Given the description of an element on the screen output the (x, y) to click on. 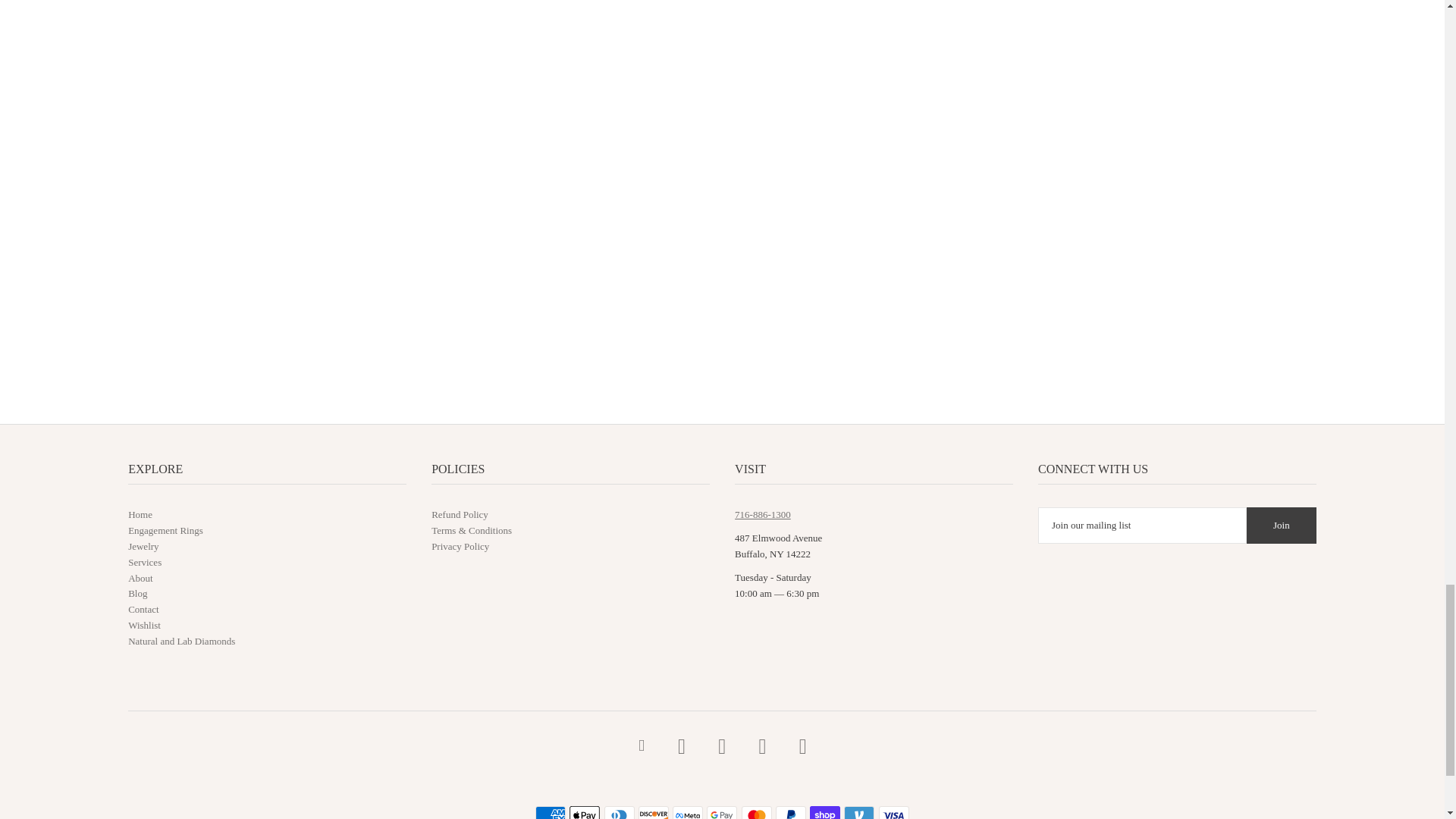
tel: 7168861300 (762, 514)
Venmo (859, 812)
Diners Club (619, 812)
PayPal (791, 812)
American Express (550, 812)
Discover (653, 812)
Mastercard (756, 812)
Google Pay (721, 812)
Visa (893, 812)
Join (1281, 524)
Meta Pay (687, 812)
Shop Pay (824, 812)
Apple Pay (584, 812)
